Given the description of an element on the screen output the (x, y) to click on. 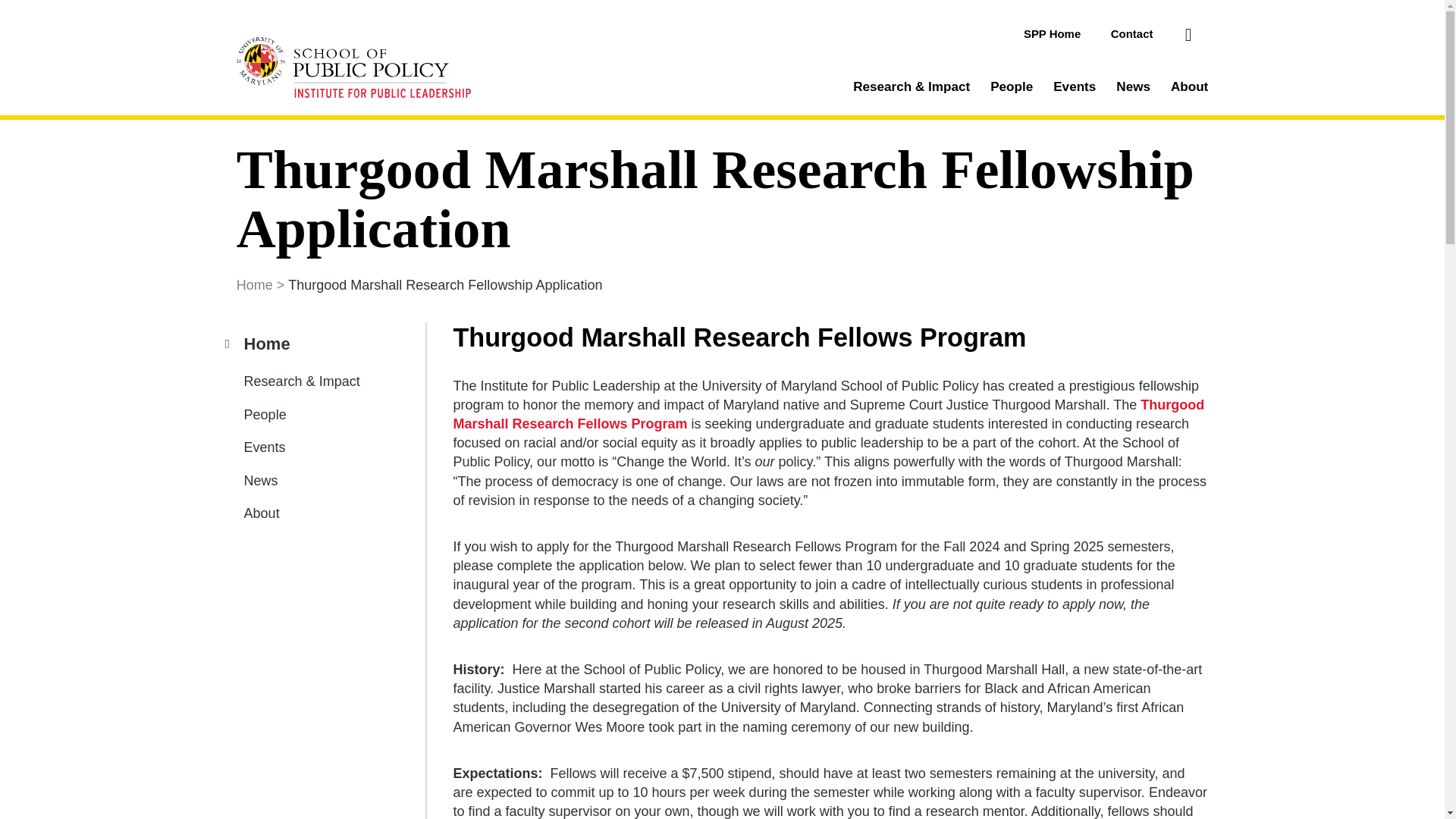
People (300, 414)
SPP Home (1051, 33)
News (300, 480)
Events (300, 447)
Home (300, 343)
Contact (1131, 33)
About (300, 512)
Home (254, 285)
Thurgood Marshall Research Fellows Program (828, 415)
